Given the description of an element on the screen output the (x, y) to click on. 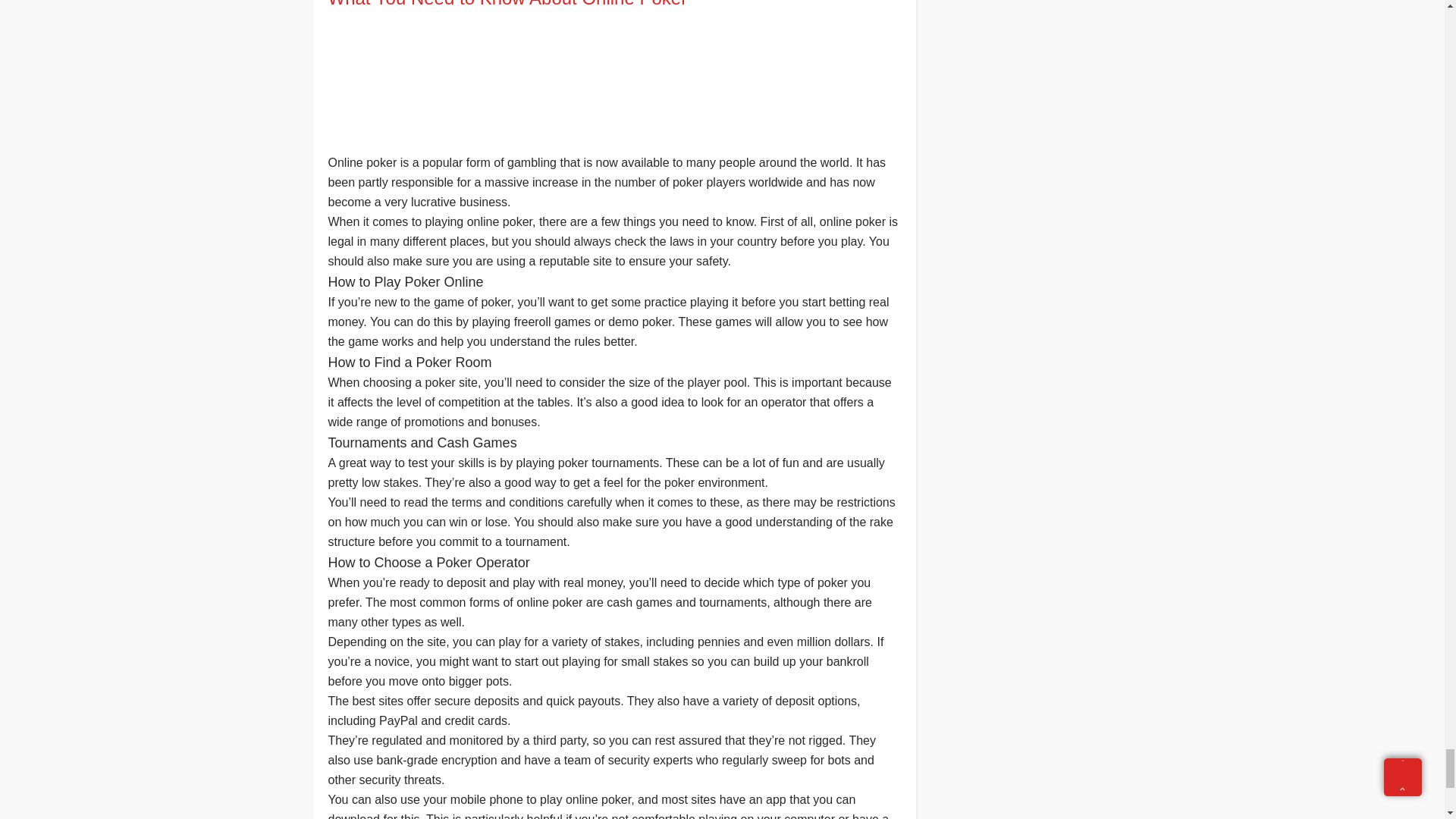
What You Need to Know About Online Poker (613, 3)
